Given the description of an element on the screen output the (x, y) to click on. 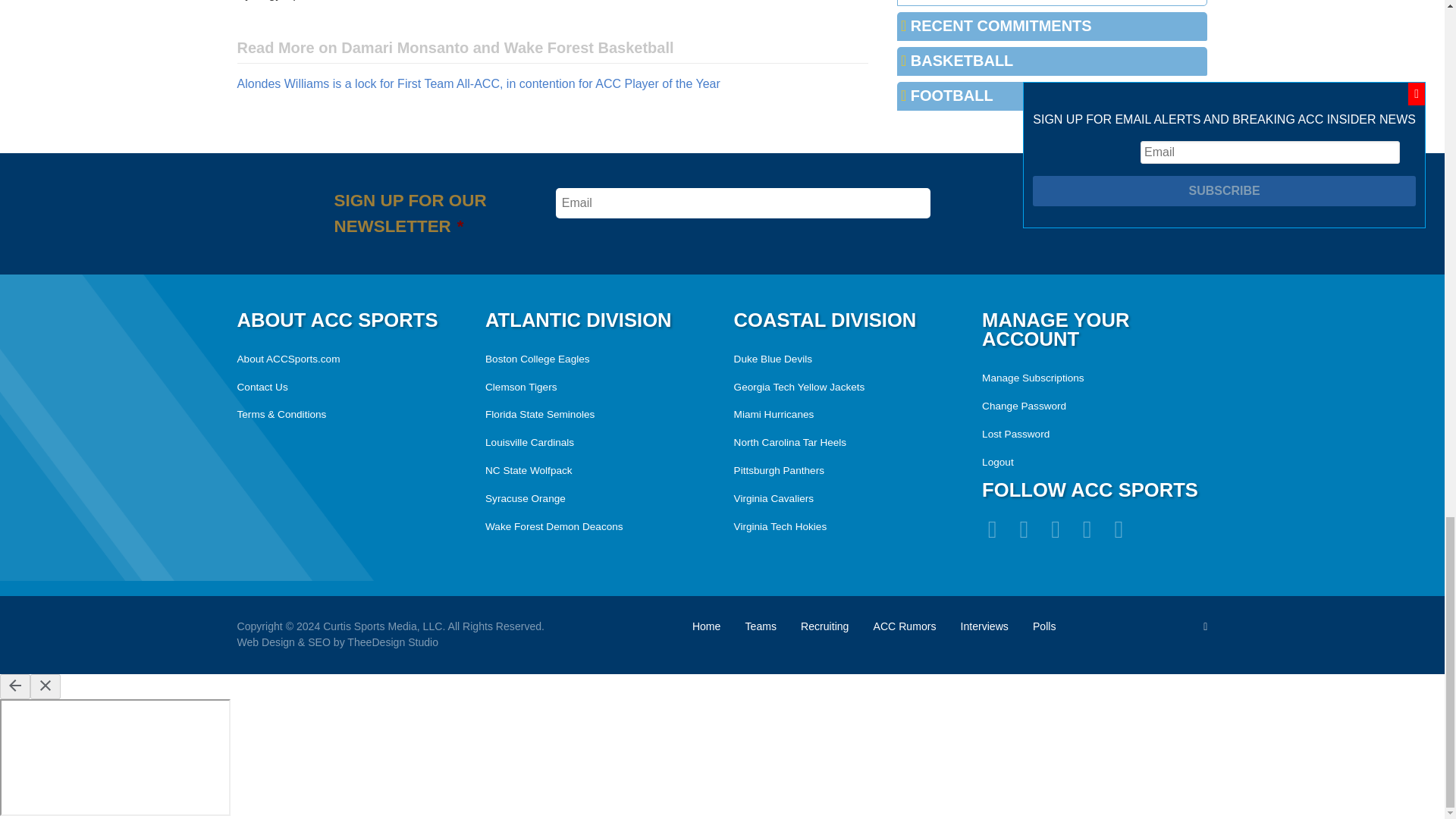
Subscribe (1068, 203)
